Given the description of an element on the screen output the (x, y) to click on. 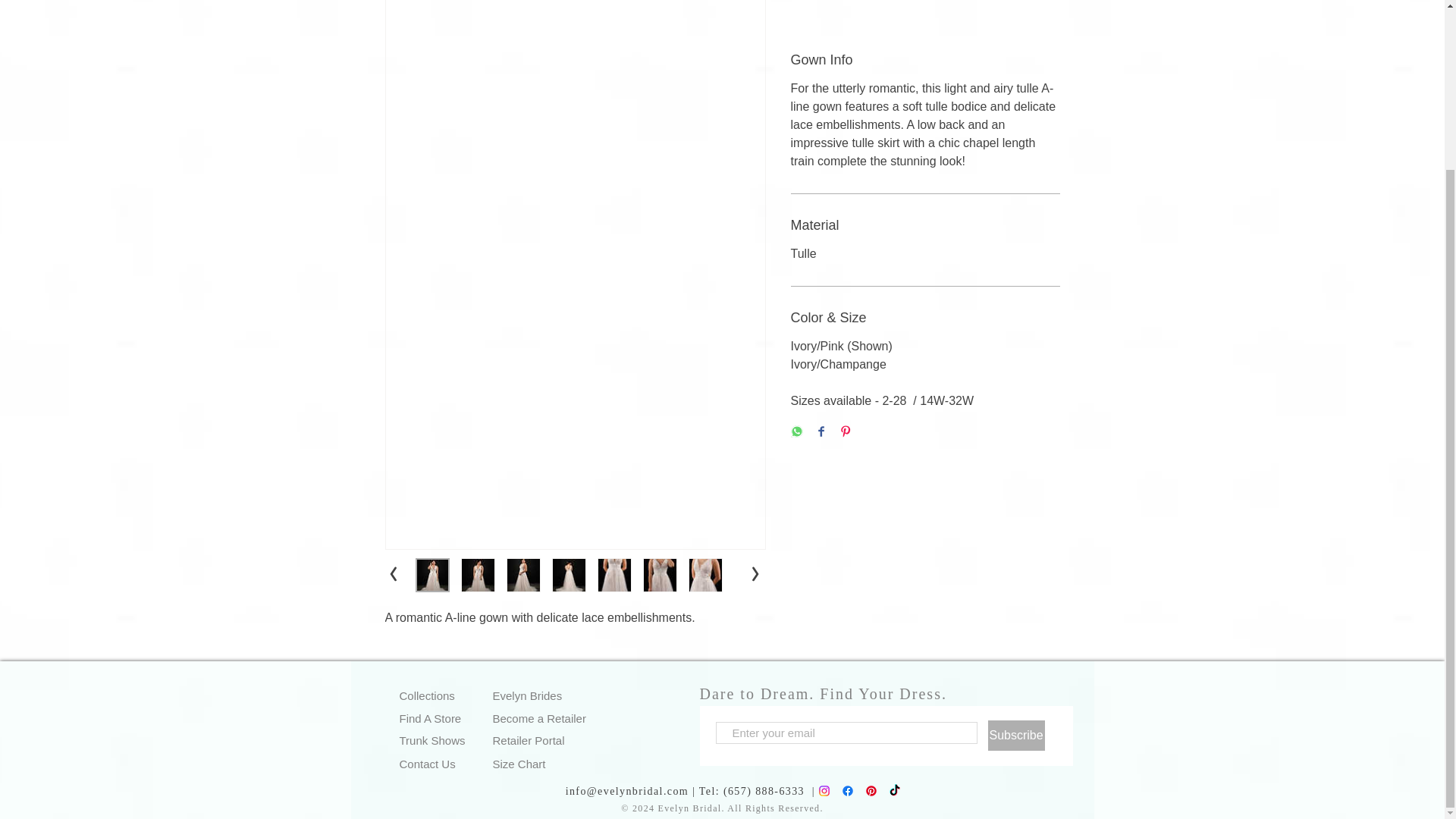
Trunk Shows (452, 740)
Evelyn Brides (546, 695)
Size Chart (546, 763)
Collections (452, 695)
Subscribe (1015, 735)
Become a Retailer (546, 718)
Retailer Portal (546, 740)
Contact Us (452, 763)
Find A Store (452, 718)
